Given the description of an element on the screen output the (x, y) to click on. 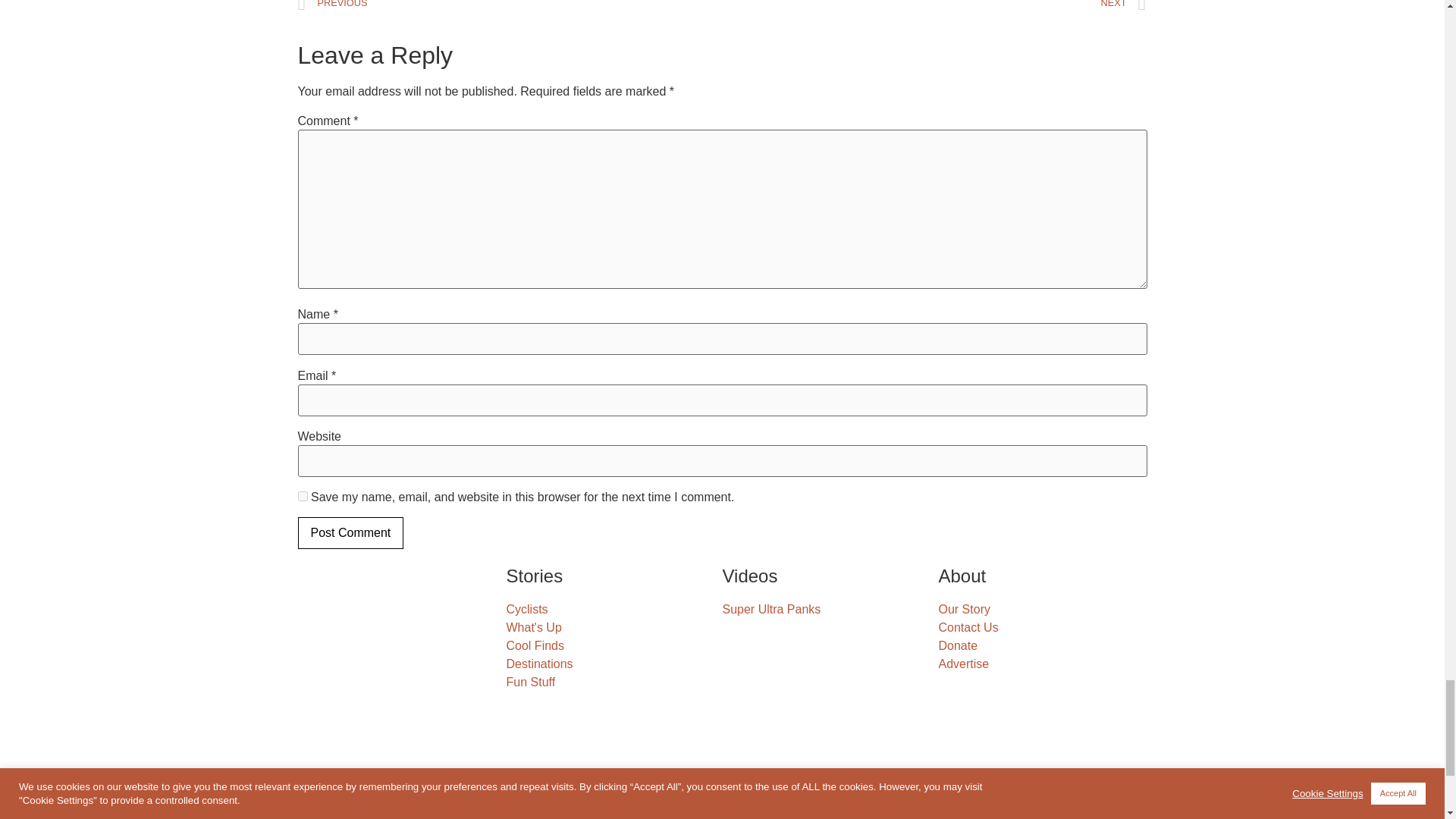
PREVIOUS (509, 9)
Post Comment (350, 532)
NEXT (934, 9)
yes (302, 496)
Cyclists (614, 609)
Post Comment (350, 532)
